Given the description of an element on the screen output the (x, y) to click on. 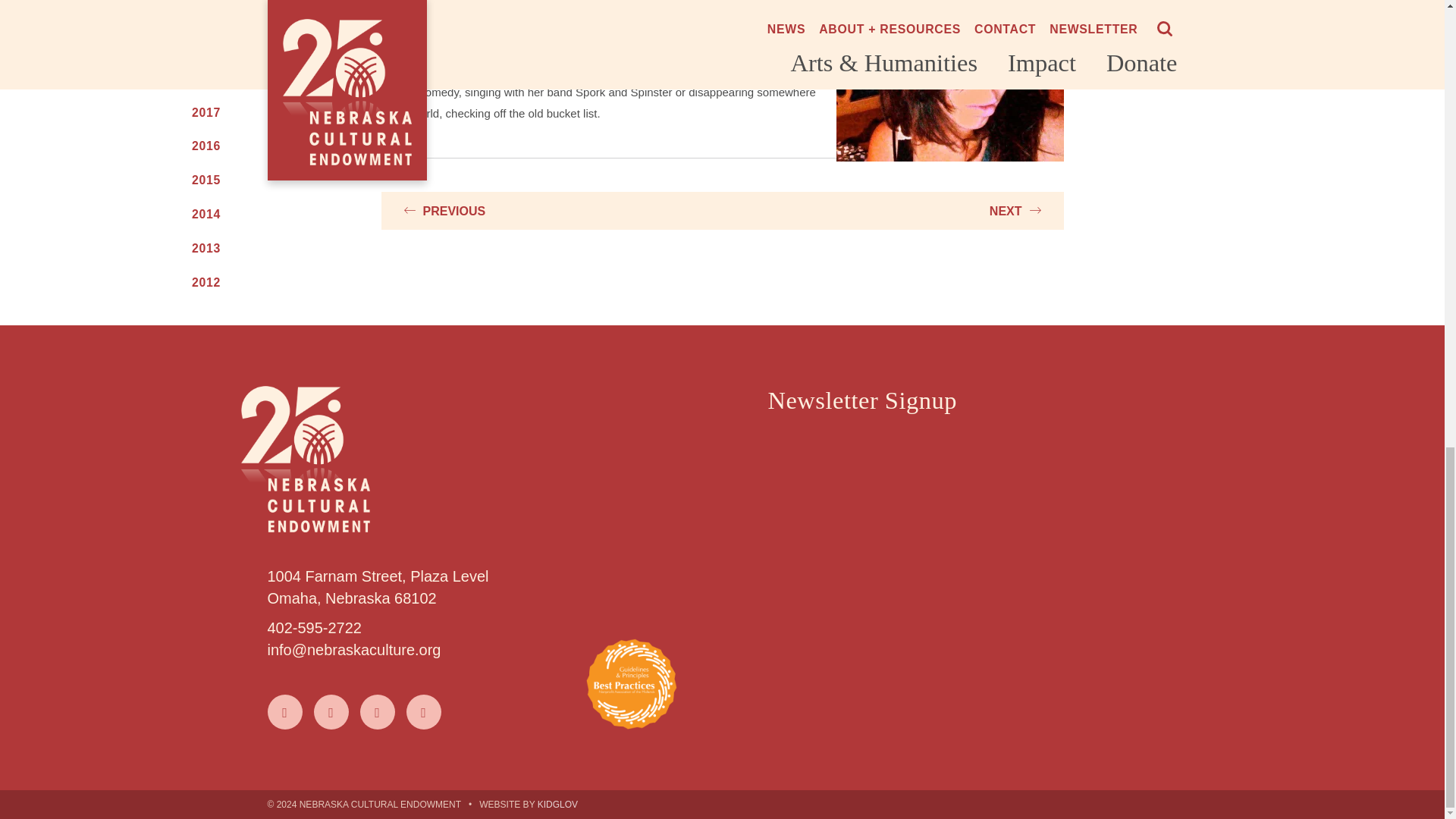
2019 (255, 44)
2020 (255, 10)
2015 (255, 180)
2017 (255, 112)
2016 (255, 146)
2018 (255, 78)
